Given the description of an element on the screen output the (x, y) to click on. 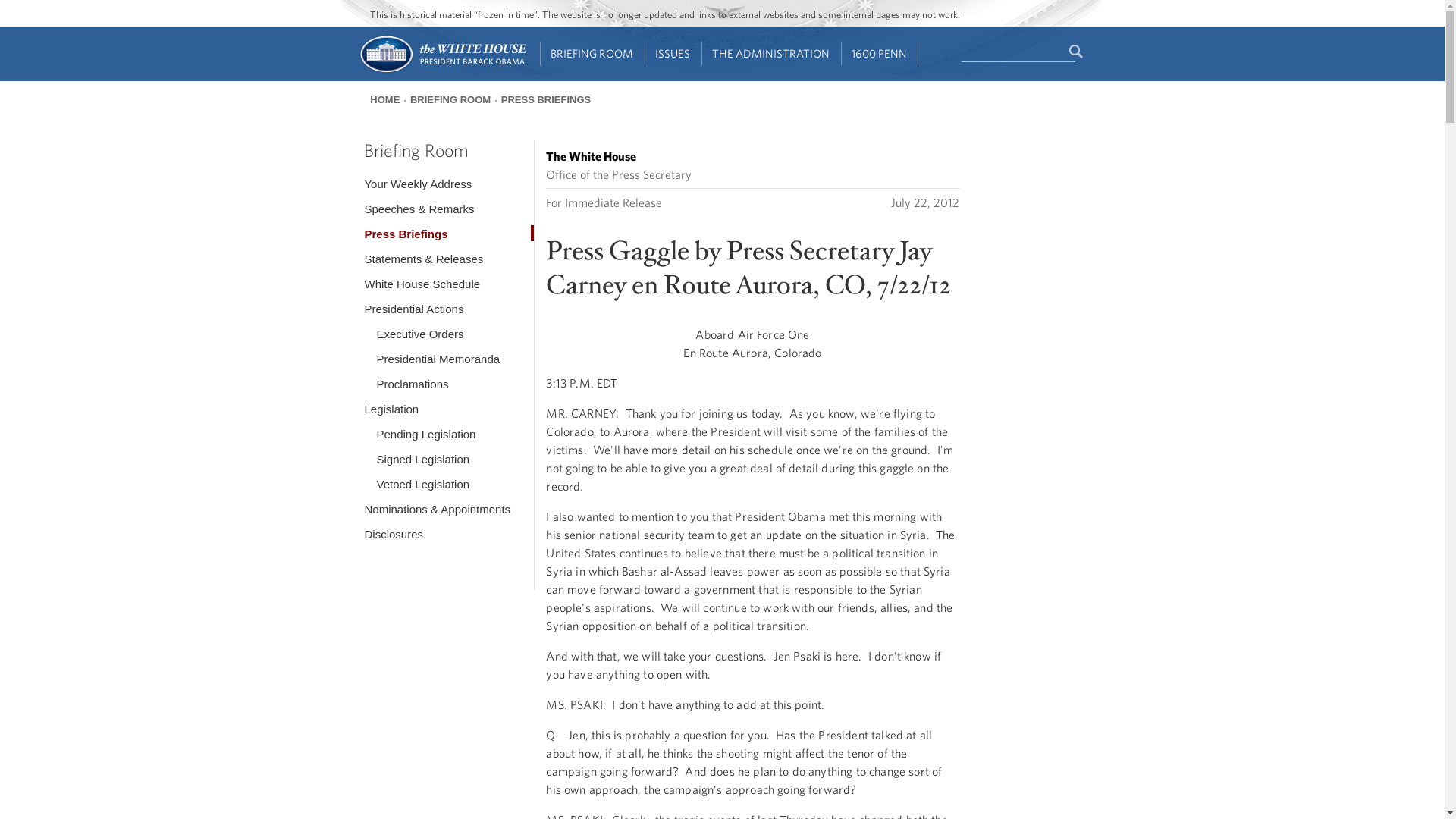
Home (441, 70)
BRIEFING ROOM (592, 53)
ISSUES (673, 53)
Search (1076, 51)
Enter the terms you wish to search for. (1017, 52)
